Given the description of an element on the screen output the (x, y) to click on. 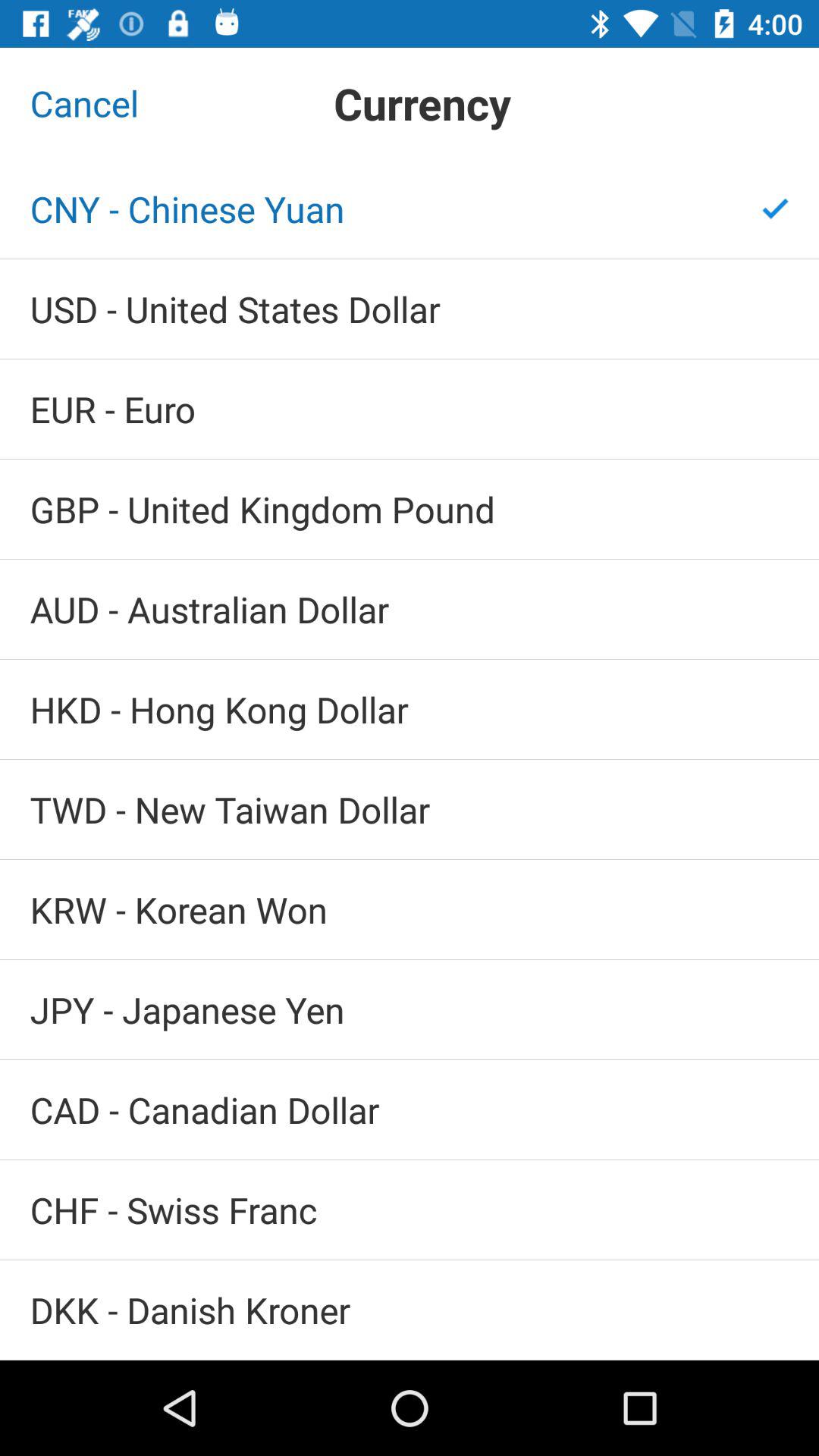
tap gbp united kingdom icon (409, 509)
